Given the description of an element on the screen output the (x, y) to click on. 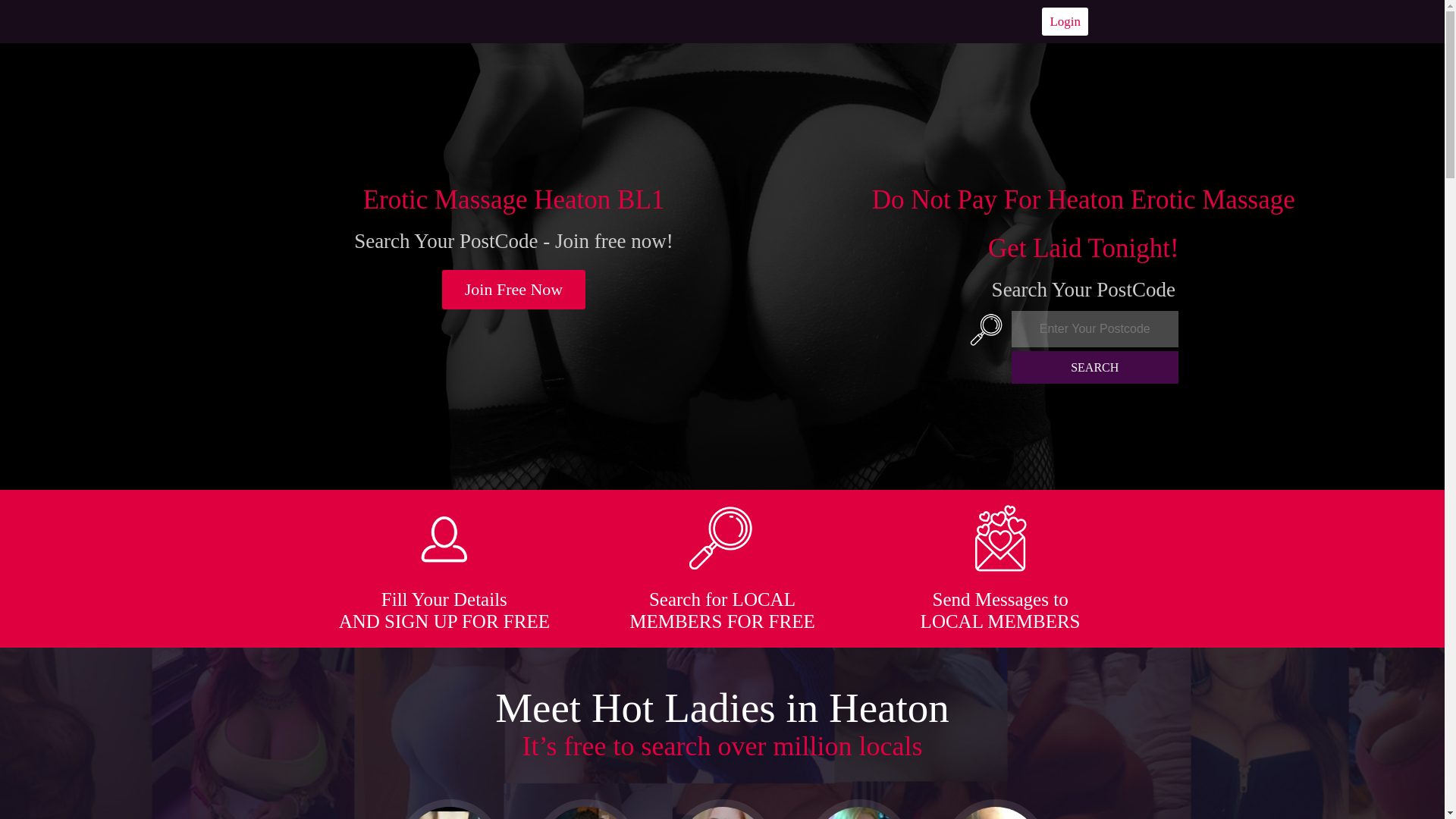
Join (514, 289)
Join Free Now (514, 289)
Login (1064, 21)
Login (1064, 21)
SEARCH (1094, 367)
